Given the description of an element on the screen output the (x, y) to click on. 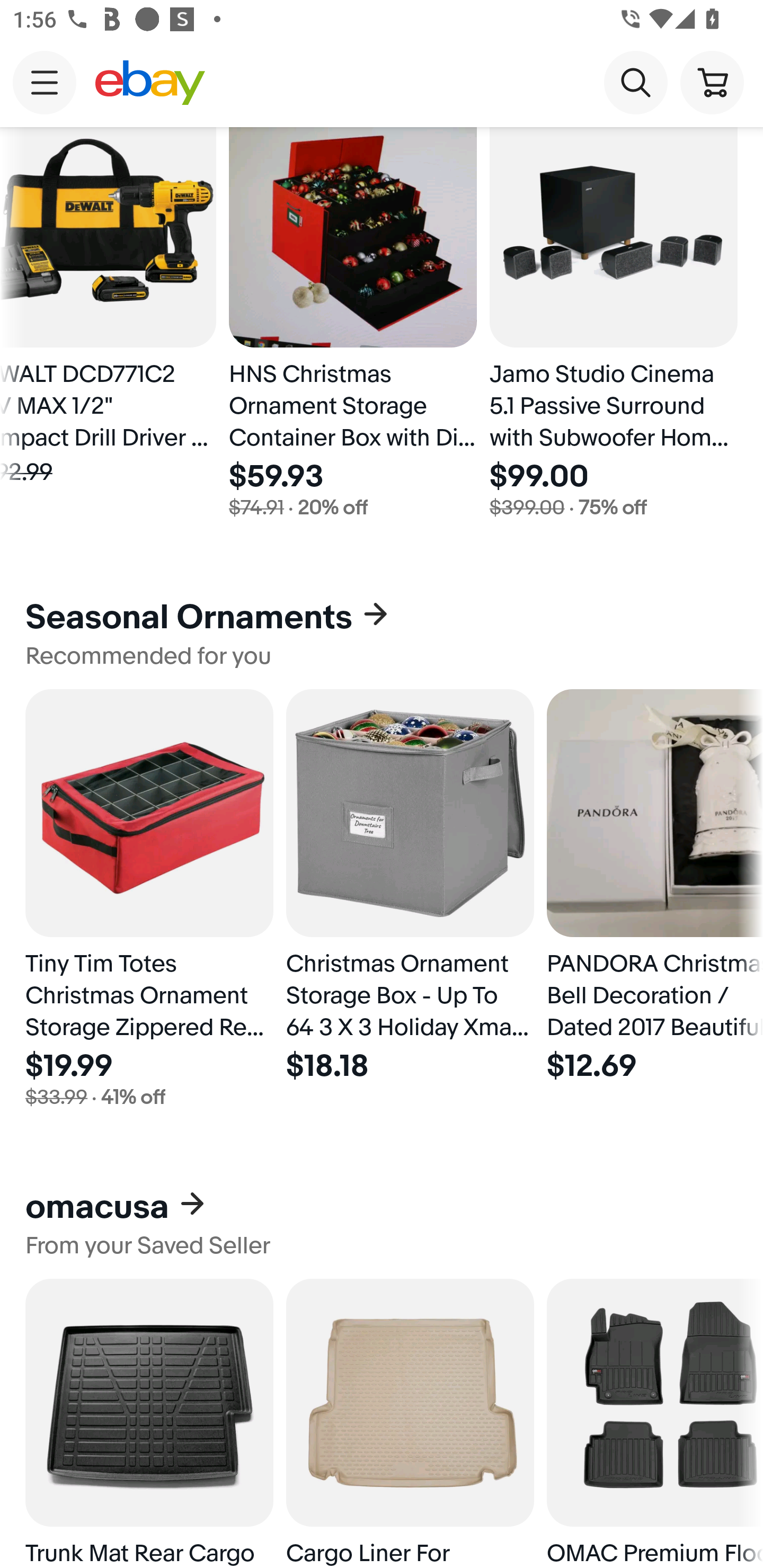
Main navigation, open (44, 82)
Search (635, 81)
Cart button shopping cart (711, 81)
Seasonal Ornaments   Recommended for you (381, 633)
omacusa   From your Saved Seller (381, 1222)
